Given the description of an element on the screen output the (x, y) to click on. 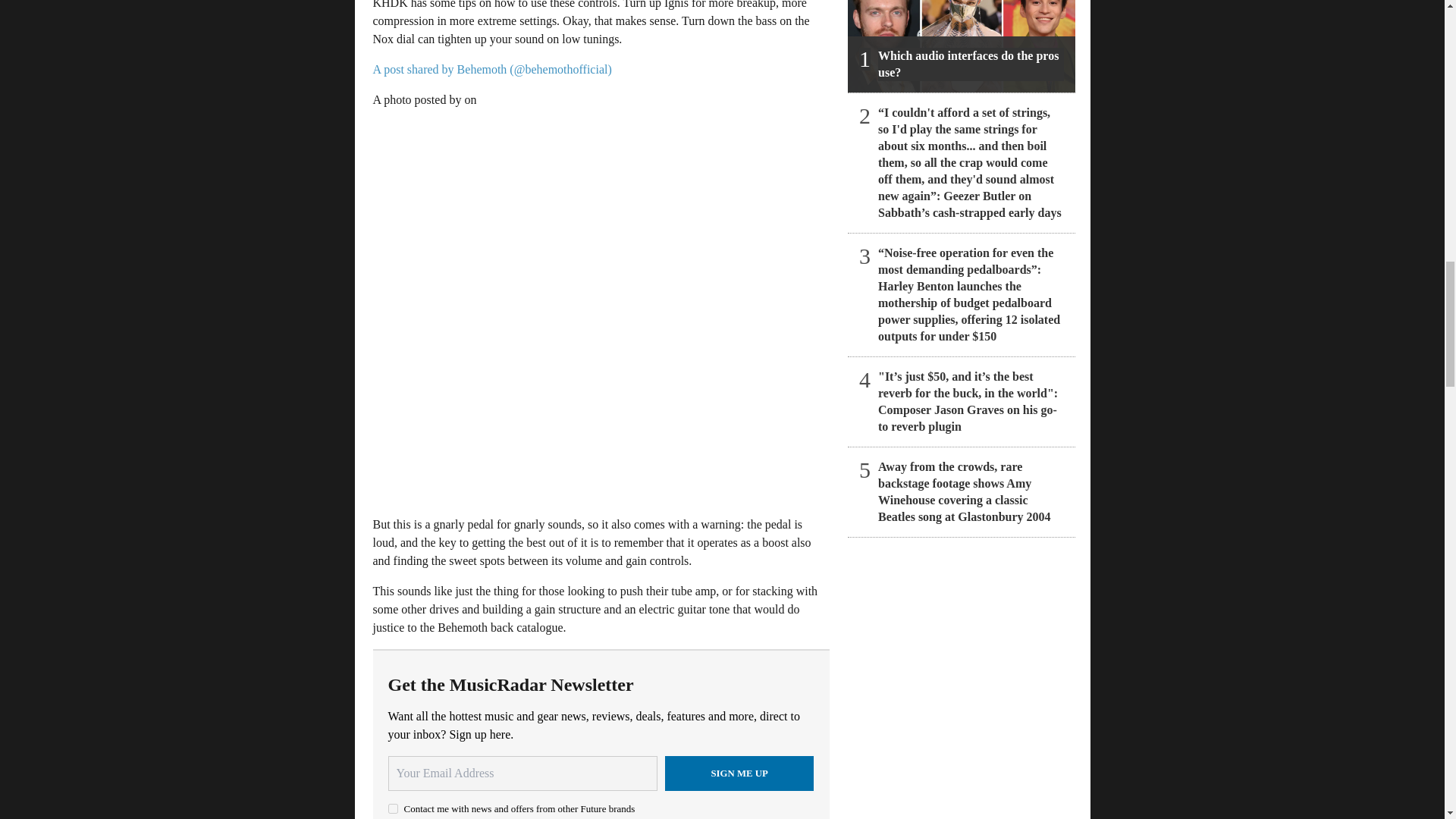
on (392, 808)
Sign me up (739, 773)
